Given the description of an element on the screen output the (x, y) to click on. 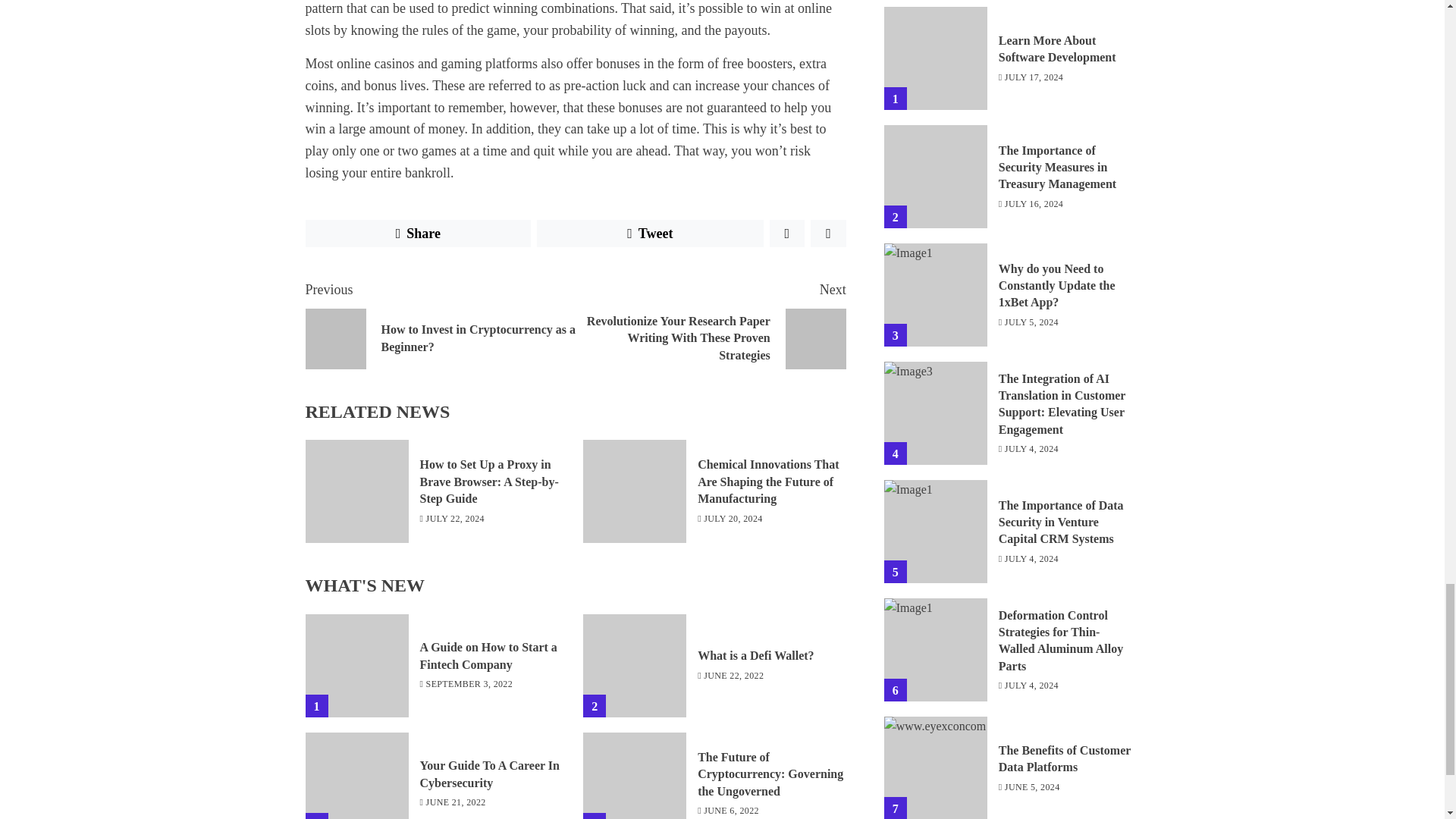
The Future of Cryptocurrency: Governing the Ungoverned (634, 775)
Your Guide To A Career In Cybersecurity (355, 775)
How to Set Up a Proxy in Brave Browser: A Step-by-Step Guide (355, 490)
A Guide on How to Start a Fintech Company (488, 655)
How to Set Up a Proxy in Brave Browser: A Step-by-Step Guide (489, 481)
A Guide on How to Start a Fintech Company (355, 665)
What is a Defi Wallet? (755, 655)
What is a Defi Wallet? (634, 665)
Share (417, 233)
Your Guide To A Career In Cybersecurity (439, 324)
The Future of Cryptocurrency: Governing the Ungoverned (490, 774)
Tweet (770, 774)
